Given the description of an element on the screen output the (x, y) to click on. 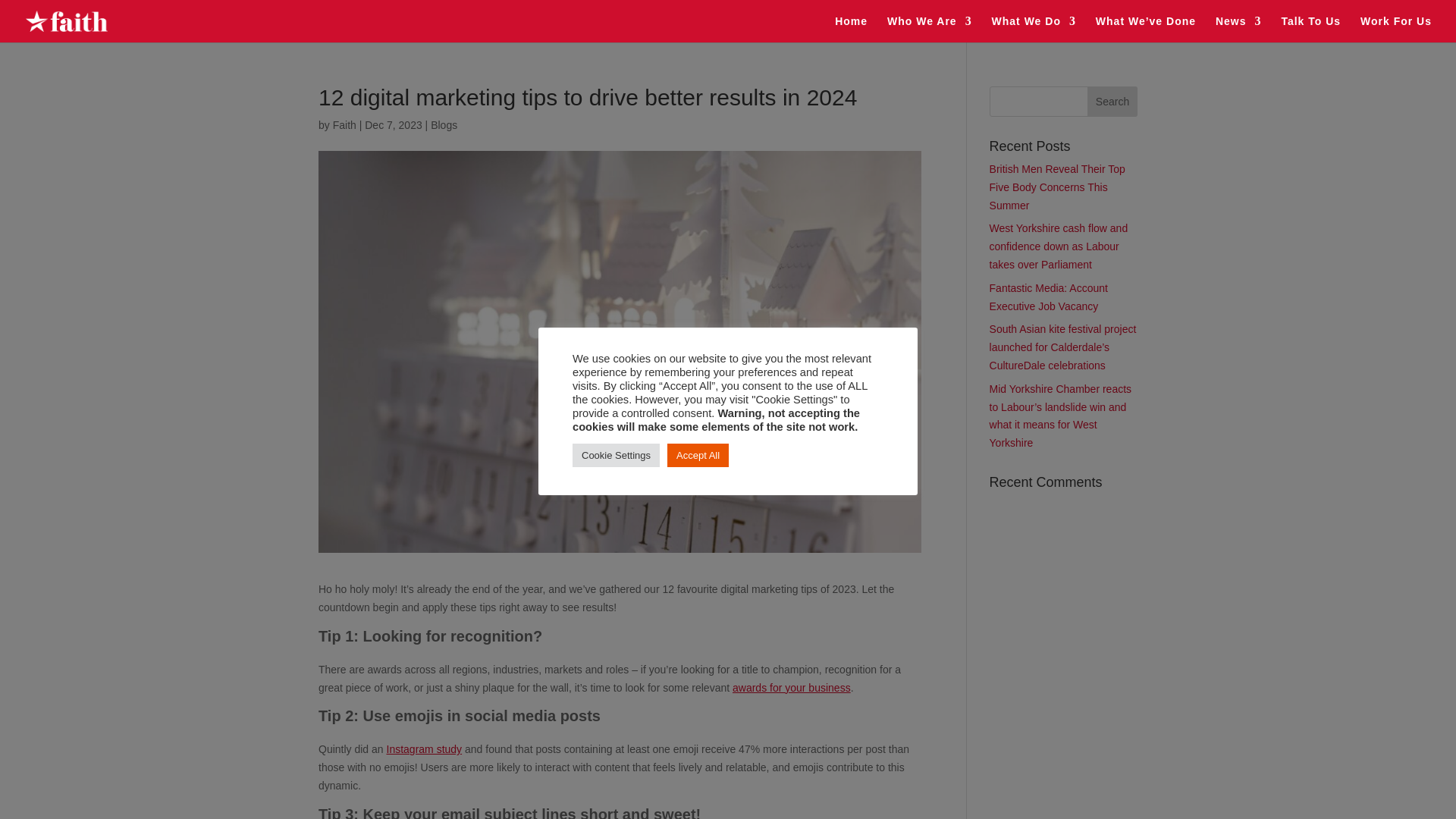
Posts by Faith (344, 124)
Who We Are (929, 28)
Talk To Us (1310, 28)
What We Do (1033, 28)
News (1238, 28)
Home (850, 28)
Search (1112, 101)
Work For Us (1395, 28)
Faith (344, 124)
